Given the description of an element on the screen output the (x, y) to click on. 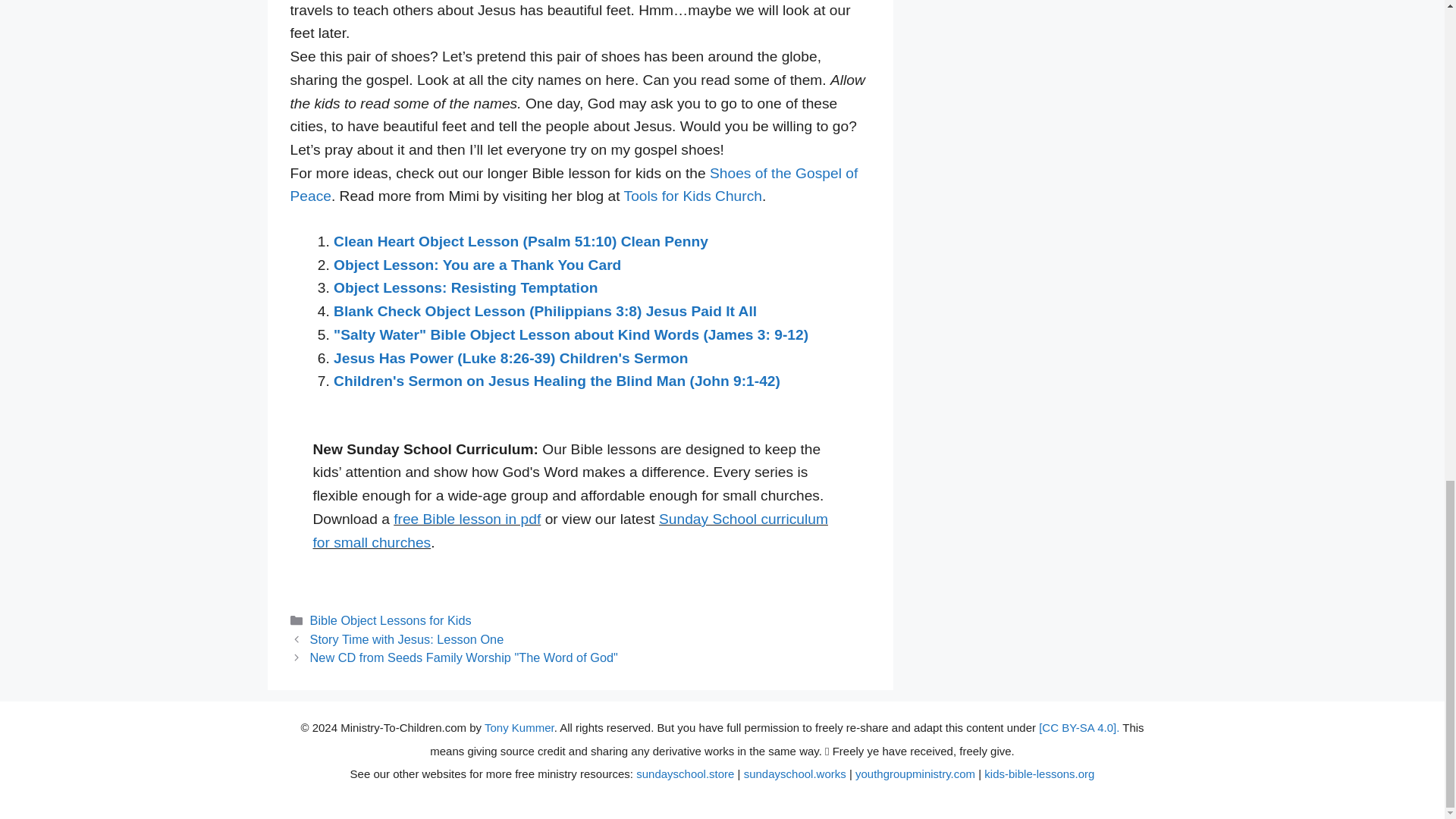
Object Lessons: Resisting Temptation (464, 287)
Object Lesson: You are a Thank You Card (477, 264)
Bible Object Lessons for Kids (390, 620)
Shoes of the Gospel of Peace (573, 184)
free Bible lesson in pdf (466, 519)
Sunday School curriculum for small churches (570, 530)
Tools for Kids Church (692, 195)
